Given the description of an element on the screen output the (x, y) to click on. 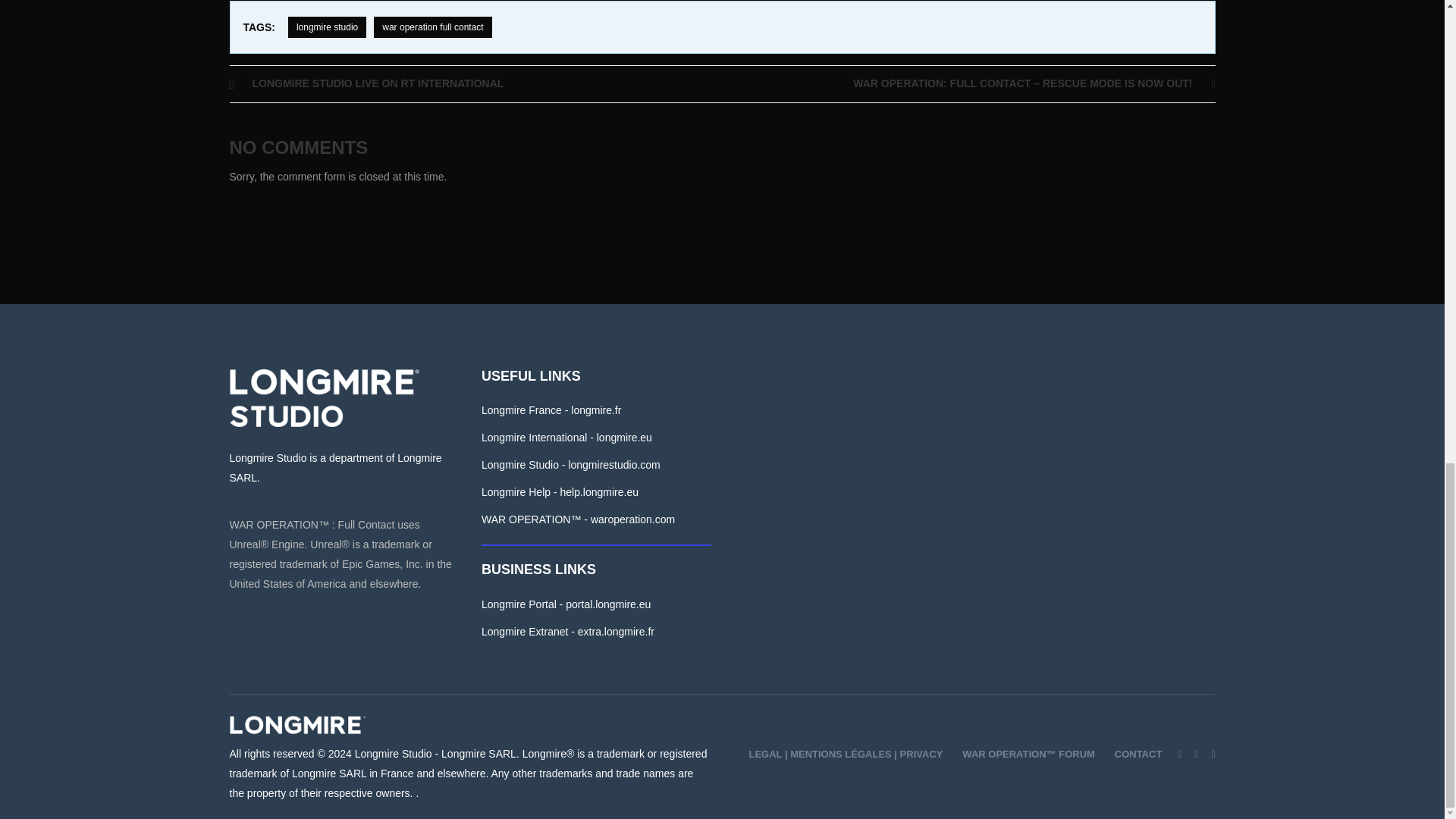
LONGMIRE STUDIO LIVE ON RT INTERNATIONAL (475, 83)
longmire studio (327, 26)
war operation full contact (433, 26)
